Given the description of an element on the screen output the (x, y) to click on. 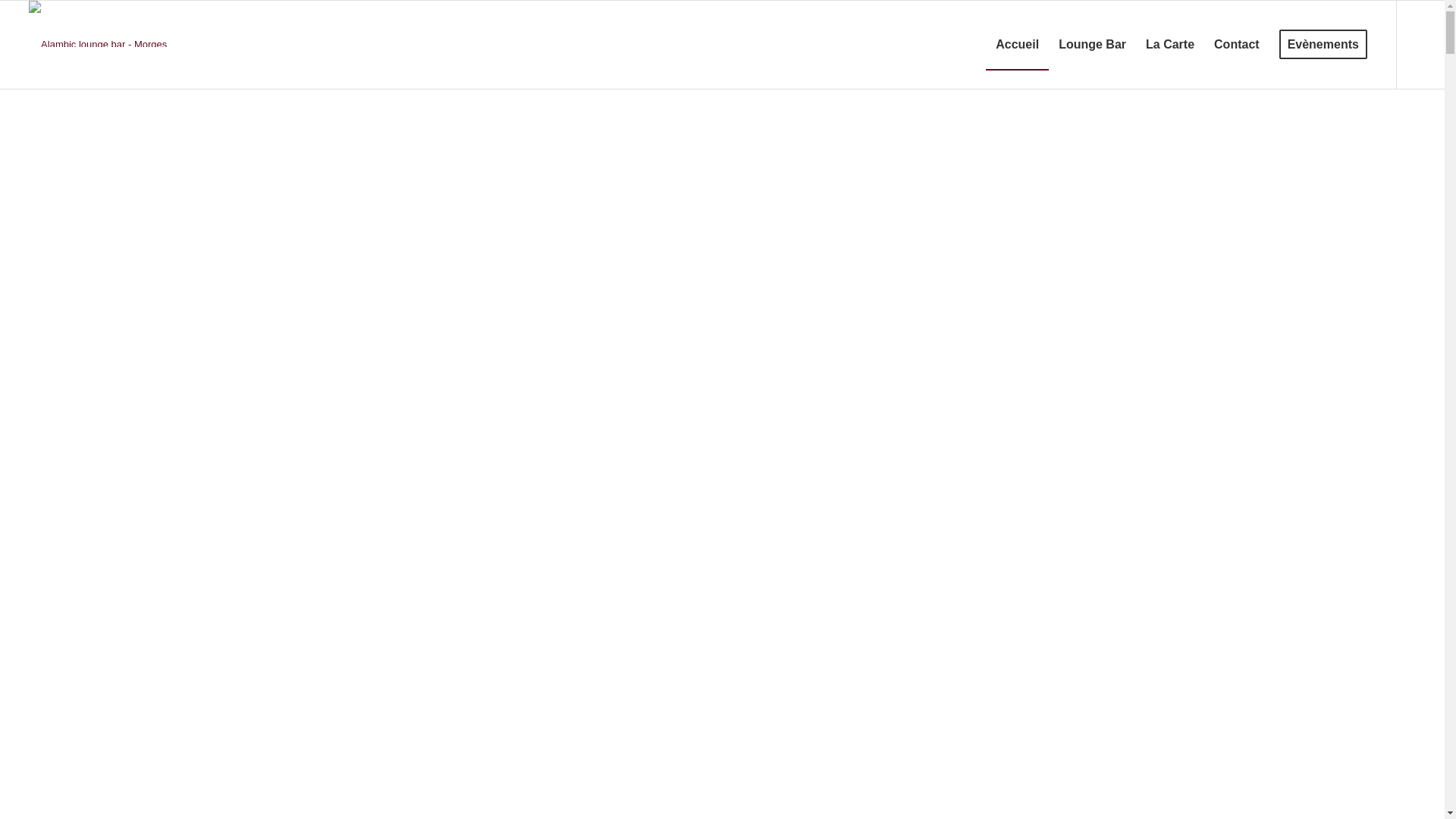
Accueil Element type: text (1016, 44)
La Carte Element type: text (1169, 44)
Contact Element type: text (1236, 44)
Lounge Bar Element type: text (1091, 44)
